Given the description of an element on the screen output the (x, y) to click on. 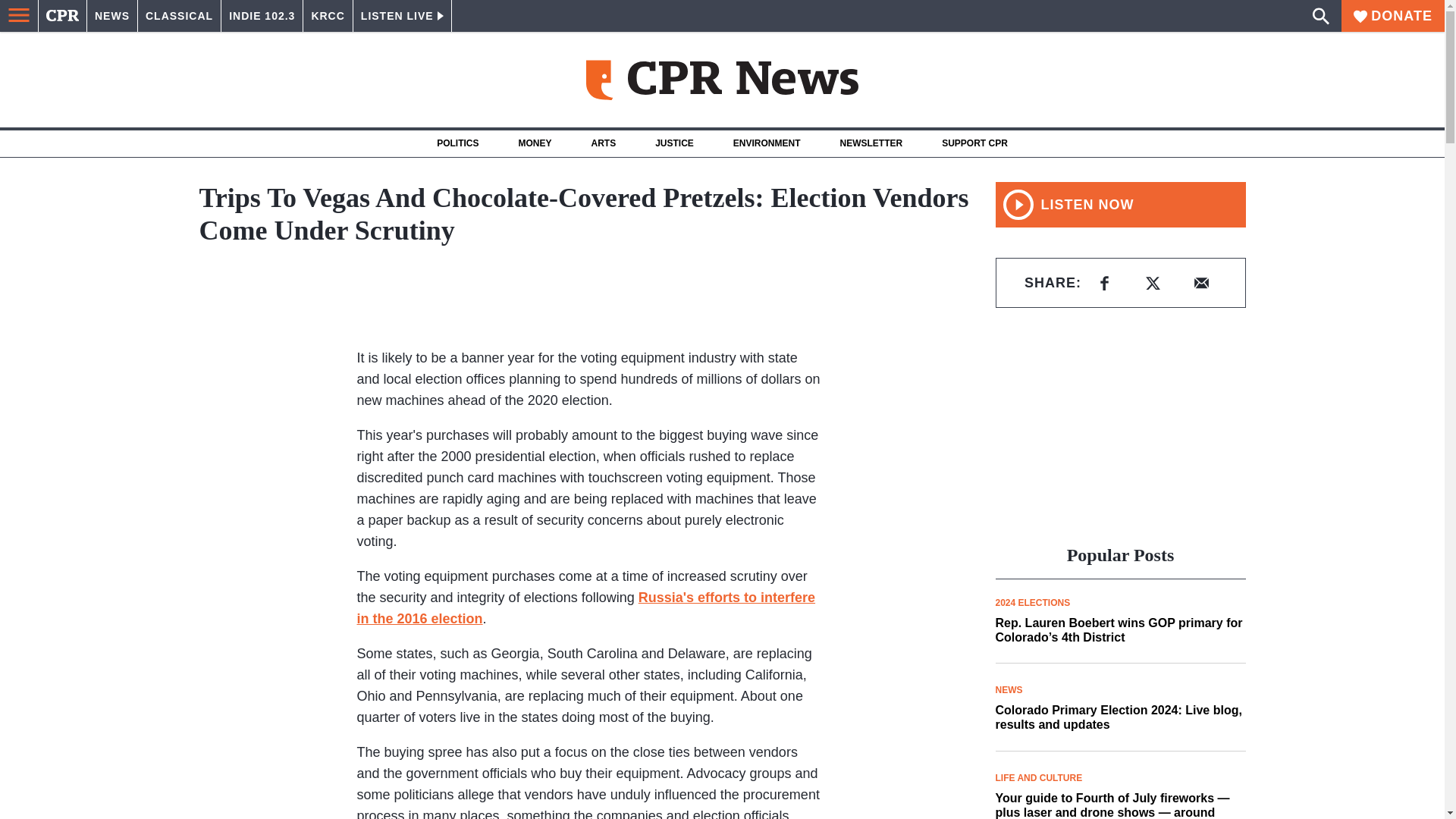
LISTEN LIVE (402, 15)
NEWS (111, 15)
CLASSICAL (179, 15)
INDIE 102.3 (261, 15)
KRCC (327, 15)
